Given the description of an element on the screen output the (x, y) to click on. 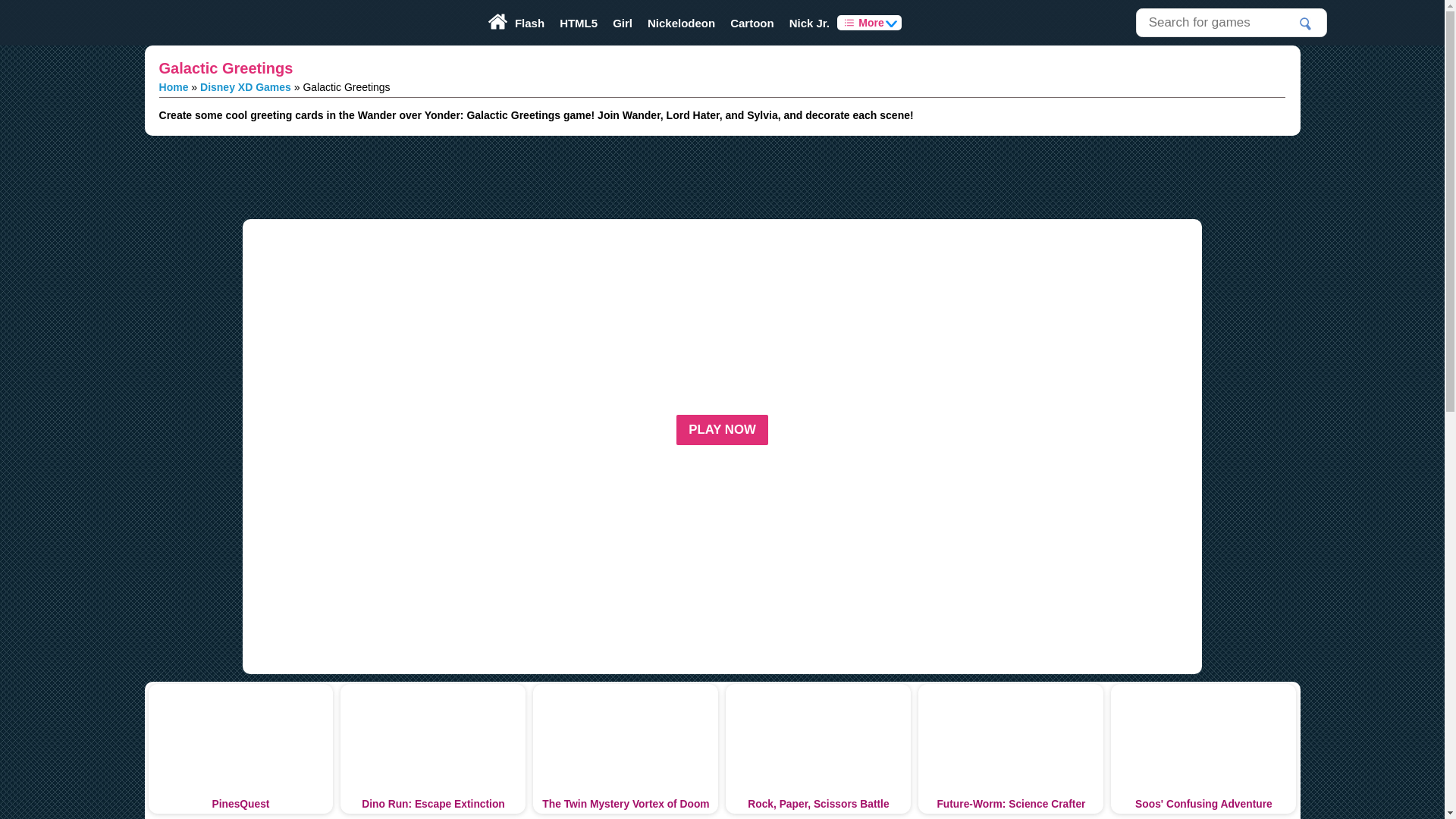
Girl Games (622, 22)
Play Fun Browser Games (185, 22)
Home (173, 87)
Nick Jr. (809, 22)
Disney XD Games (245, 87)
Nick Jr. Games (809, 22)
HTML5 (578, 22)
Flash Games (528, 22)
PinesQuest (240, 748)
Nickelodeon Games (681, 22)
More (869, 22)
Cartoon Games (751, 22)
Flash (528, 22)
Cartoon (751, 22)
